Given the description of an element on the screen output the (x, y) to click on. 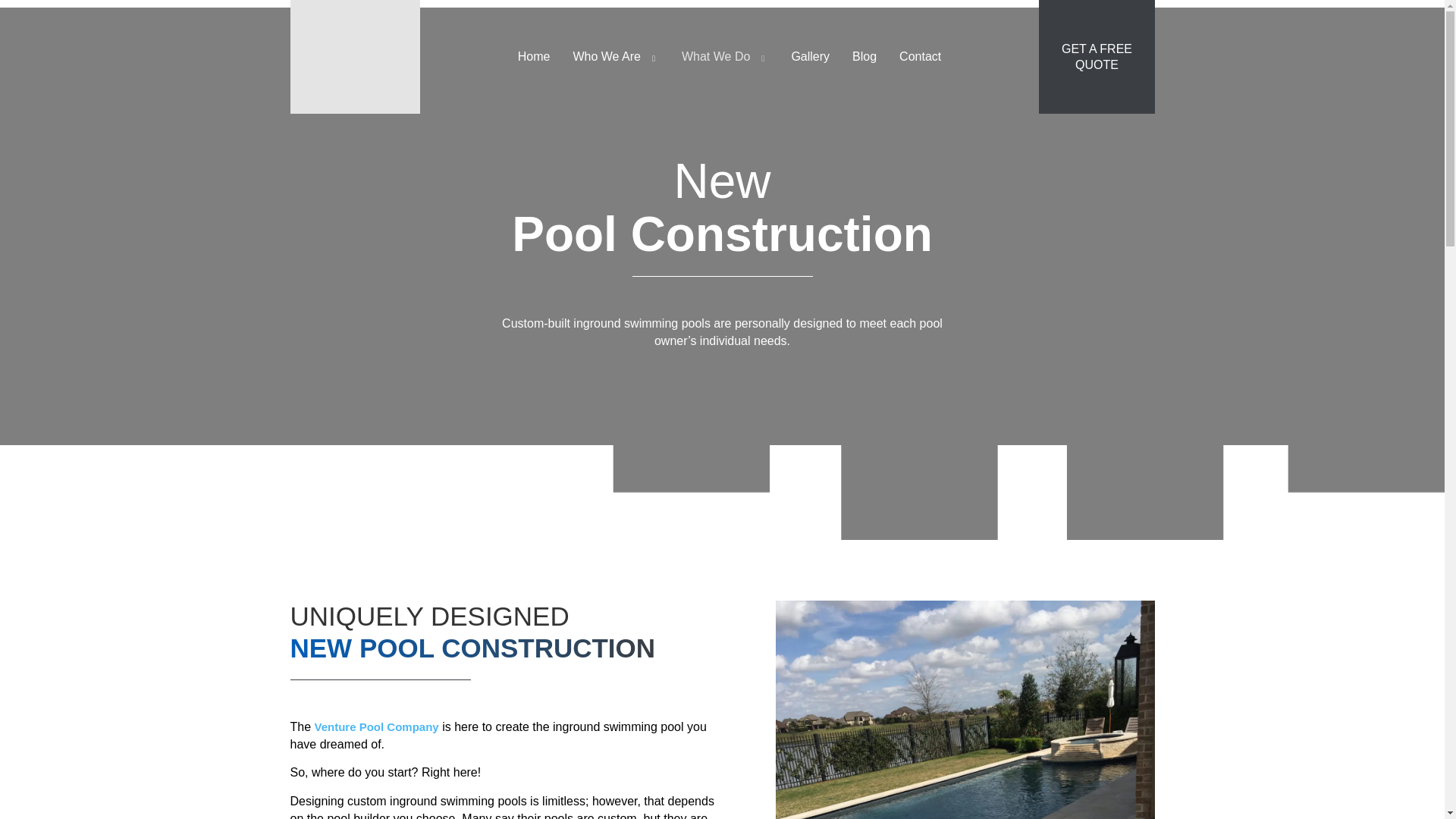
What We Do (723, 56)
Contact (920, 56)
Home (534, 56)
Who We Are (614, 56)
GET A FREE QUOTE (1096, 56)
Gallery (809, 56)
Venture Pool Company (376, 726)
Blog (864, 56)
